Given the description of an element on the screen output the (x, y) to click on. 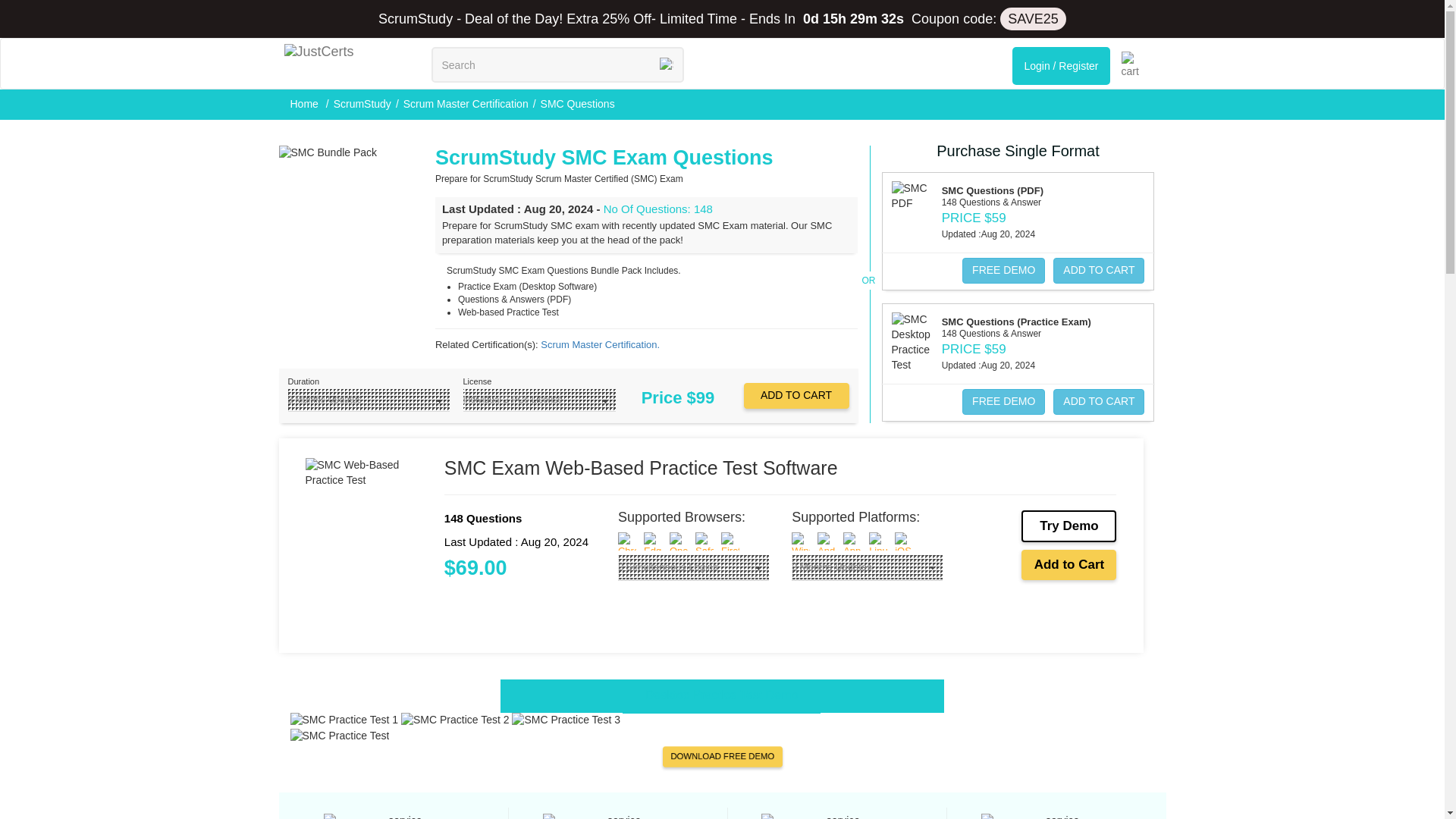
Home (304, 103)
ADD TO CART (1098, 401)
Try Demo (1069, 526)
FREE DEMO (1003, 401)
Desktop Practice Test Demo (722, 696)
ADD TO CART (795, 395)
Scrum Master Certification (465, 103)
Add to Cart (1069, 564)
FREE DEMO (1003, 270)
ScrumStudy (362, 103)
